Given the description of an element on the screen output the (x, y) to click on. 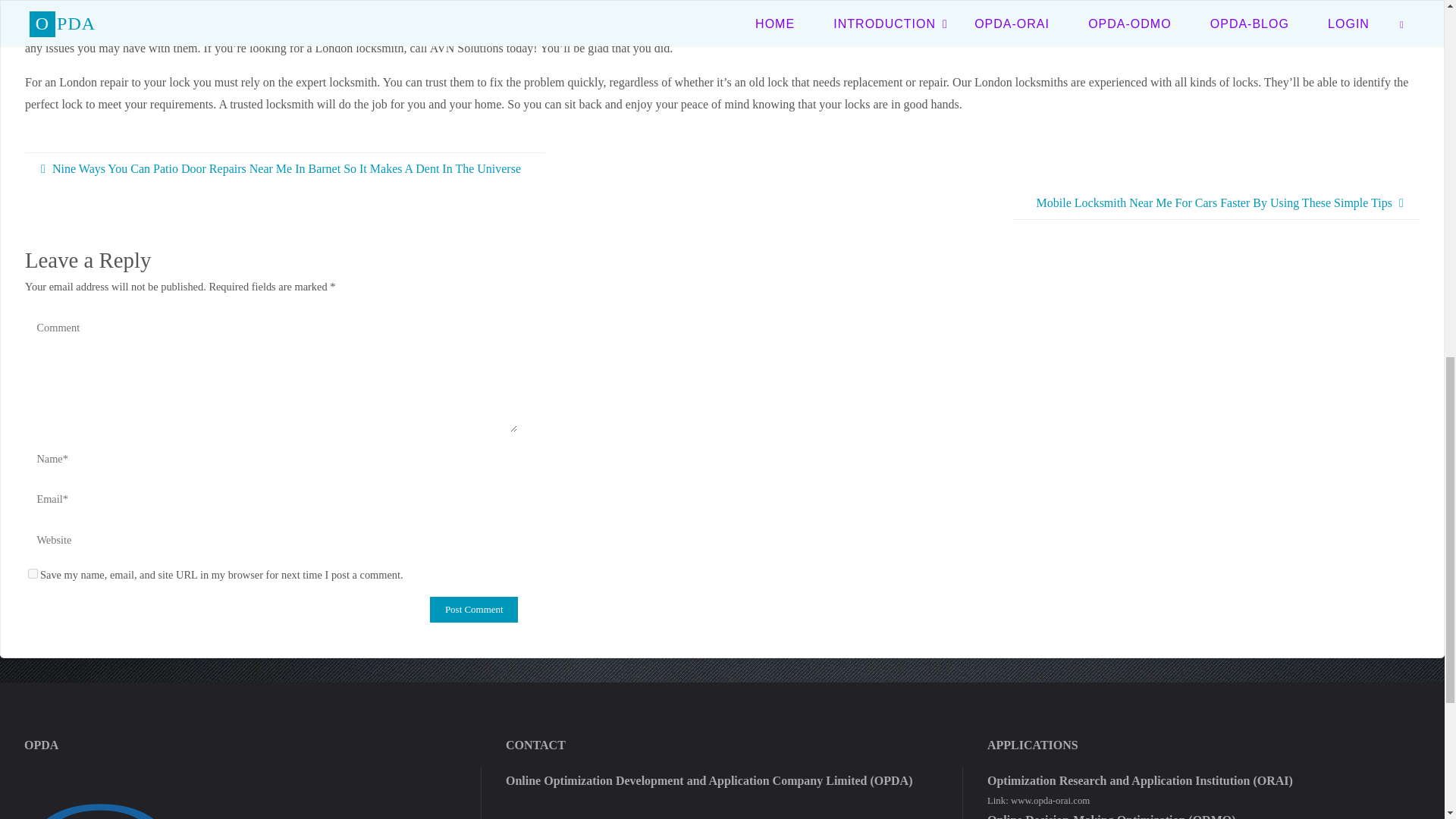
yes (32, 573)
Post Comment (473, 609)
